Given the description of an element on the screen output the (x, y) to click on. 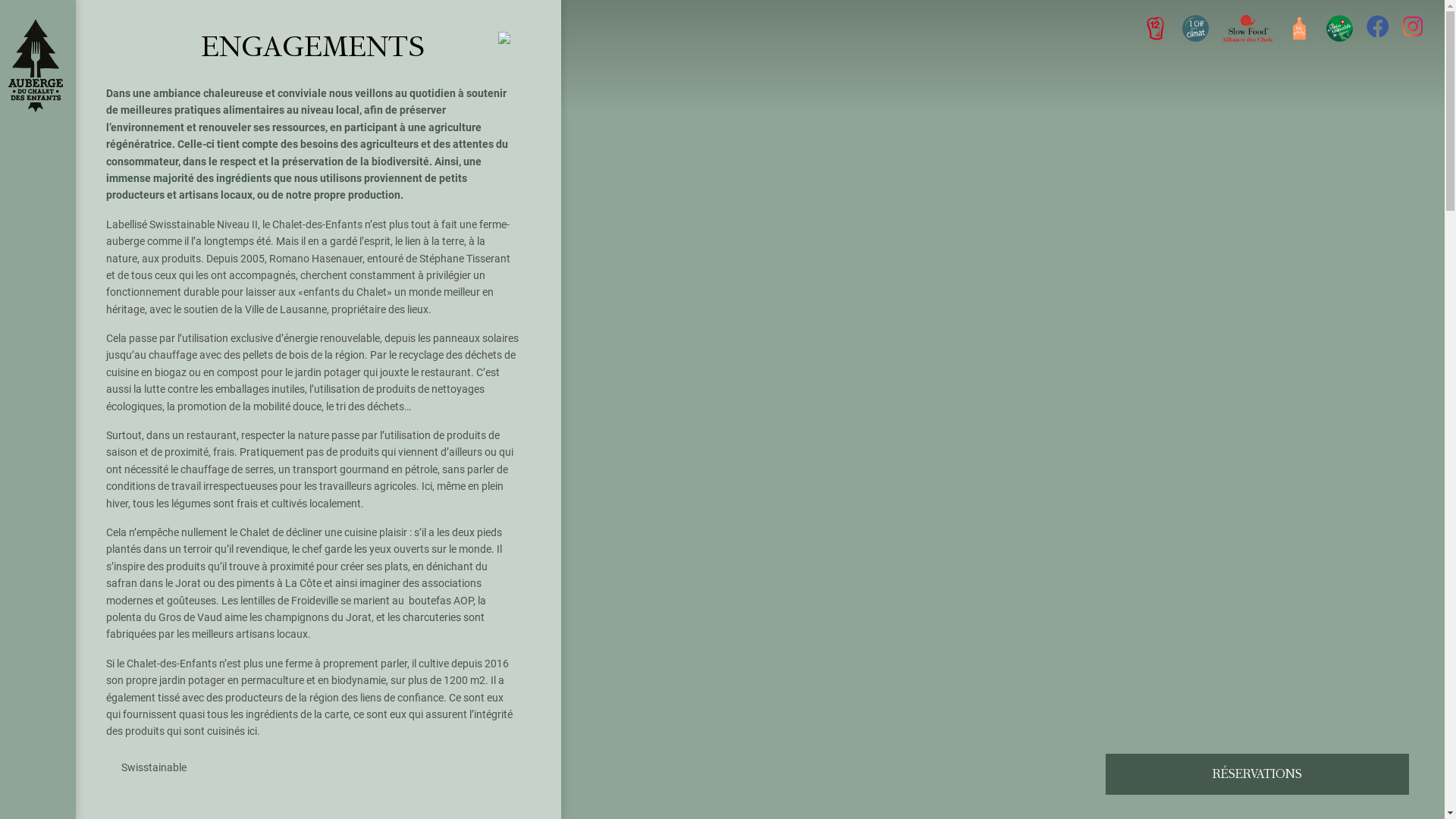
200929_SF_Alliance des Chefs_farbig Element type: hover (1247, 28)
Swisstainable Element type: text (153, 767)
GaultMillau-12-icon Element type: hover (1155, 28)
faitmaison-logo-01-1 Element type: hover (1299, 28)
LOGO_WEBEELONG Element type: hover (1195, 28)
